Given the description of an element on the screen output the (x, y) to click on. 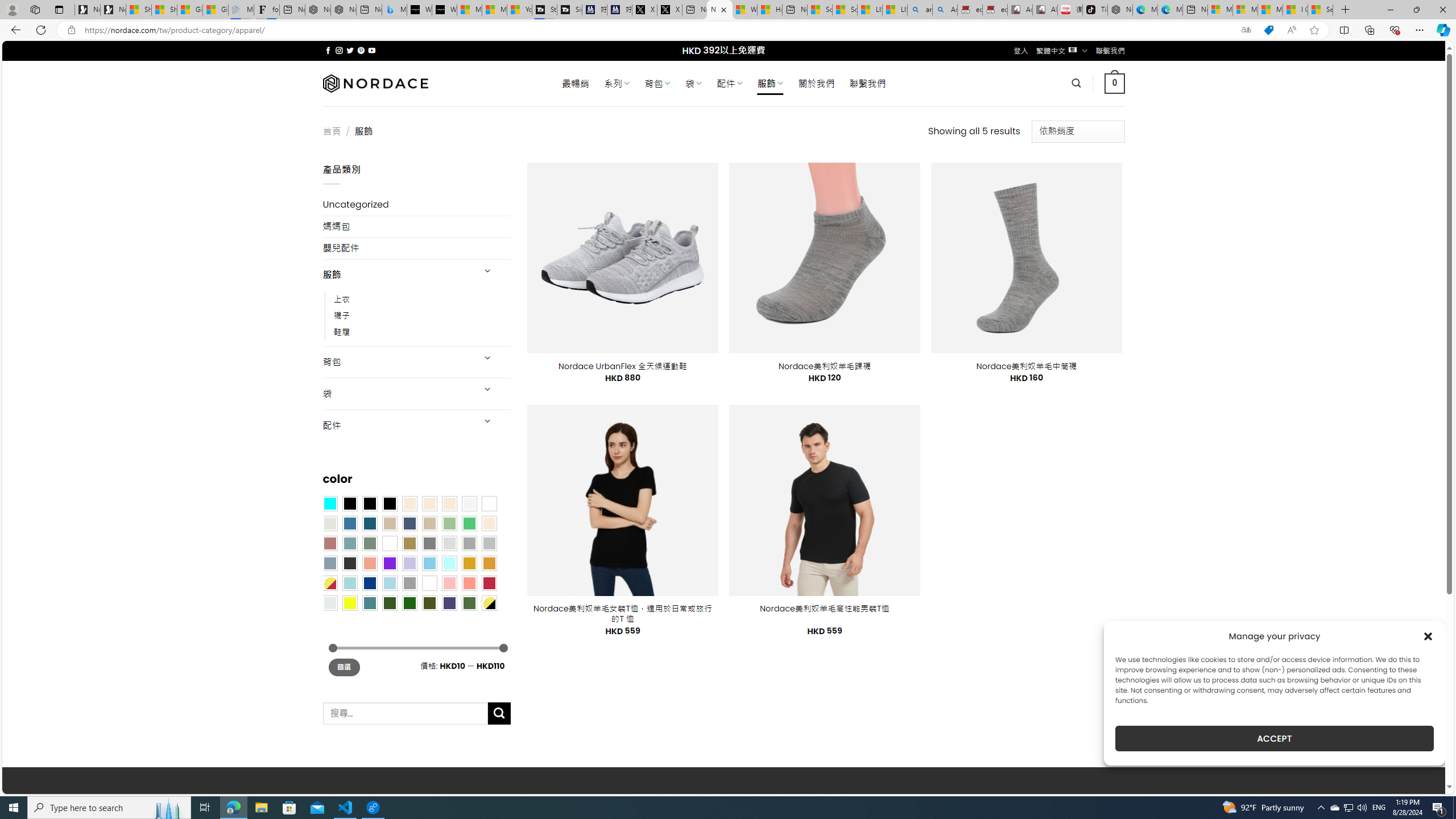
 0  (1115, 83)
